Given the description of an element on the screen output the (x, y) to click on. 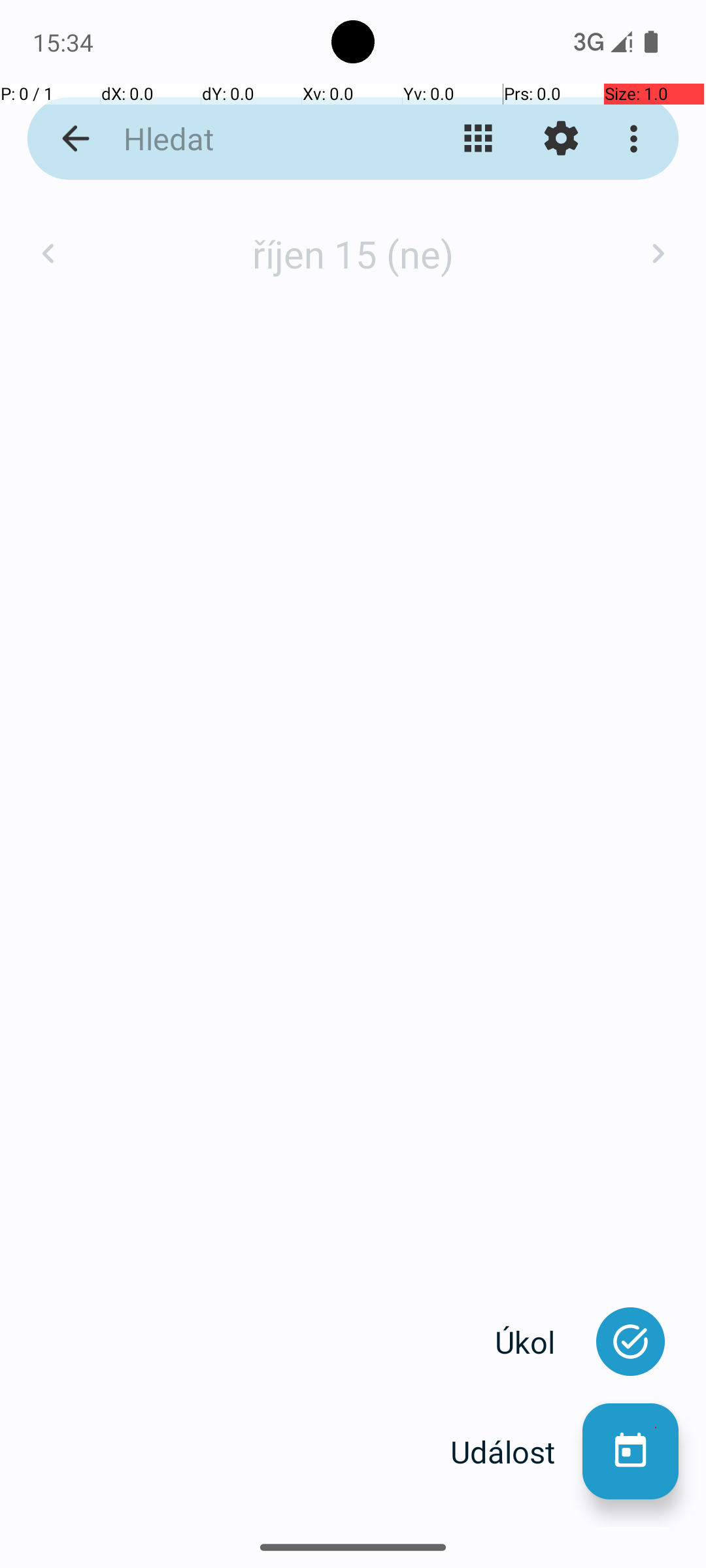
Nastavení Element type: android.widget.Button (560, 138)
Úkol Element type: android.widget.TextView (538, 1341)
Událost Element type: android.widget.TextView (516, 1451)
listopad Element type: android.widget.TextView (352, 239)
říjen 15 (ne) Element type: android.widget.TextView (352, 253)
